Given the description of an element on the screen output the (x, y) to click on. 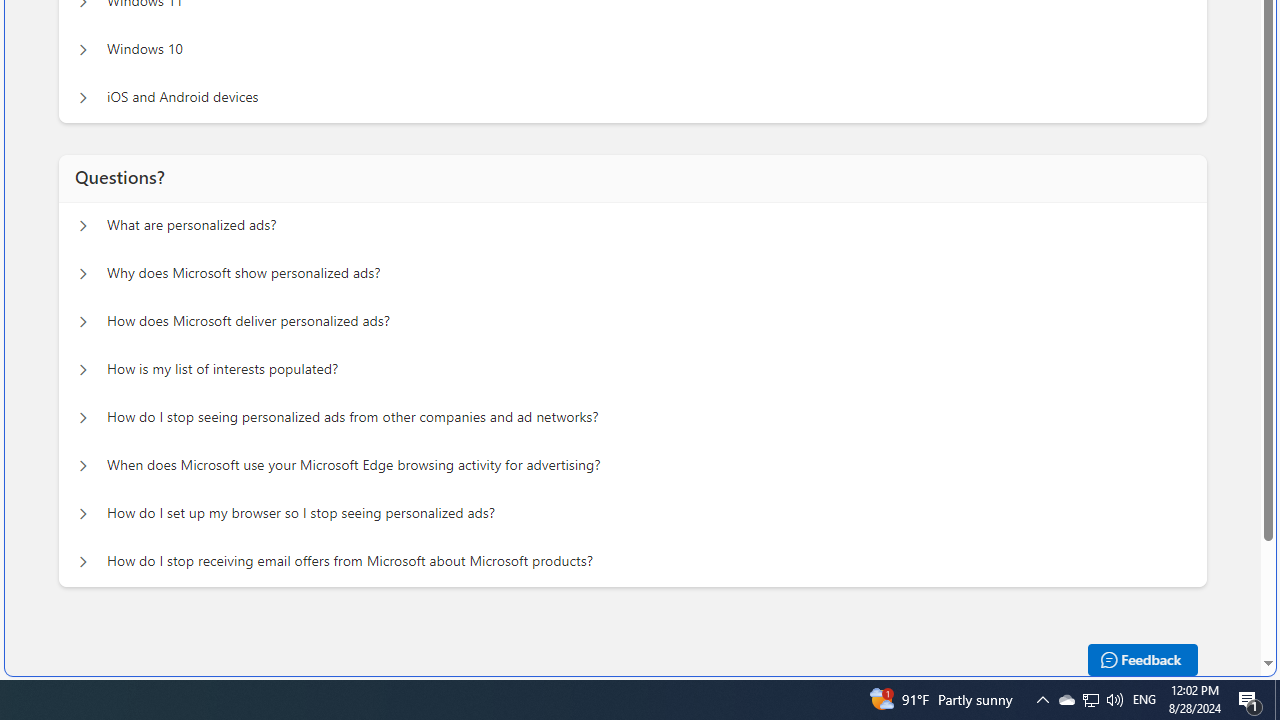
Questions? What are personalized ads? (82, 226)
